Given the description of an element on the screen output the (x, y) to click on. 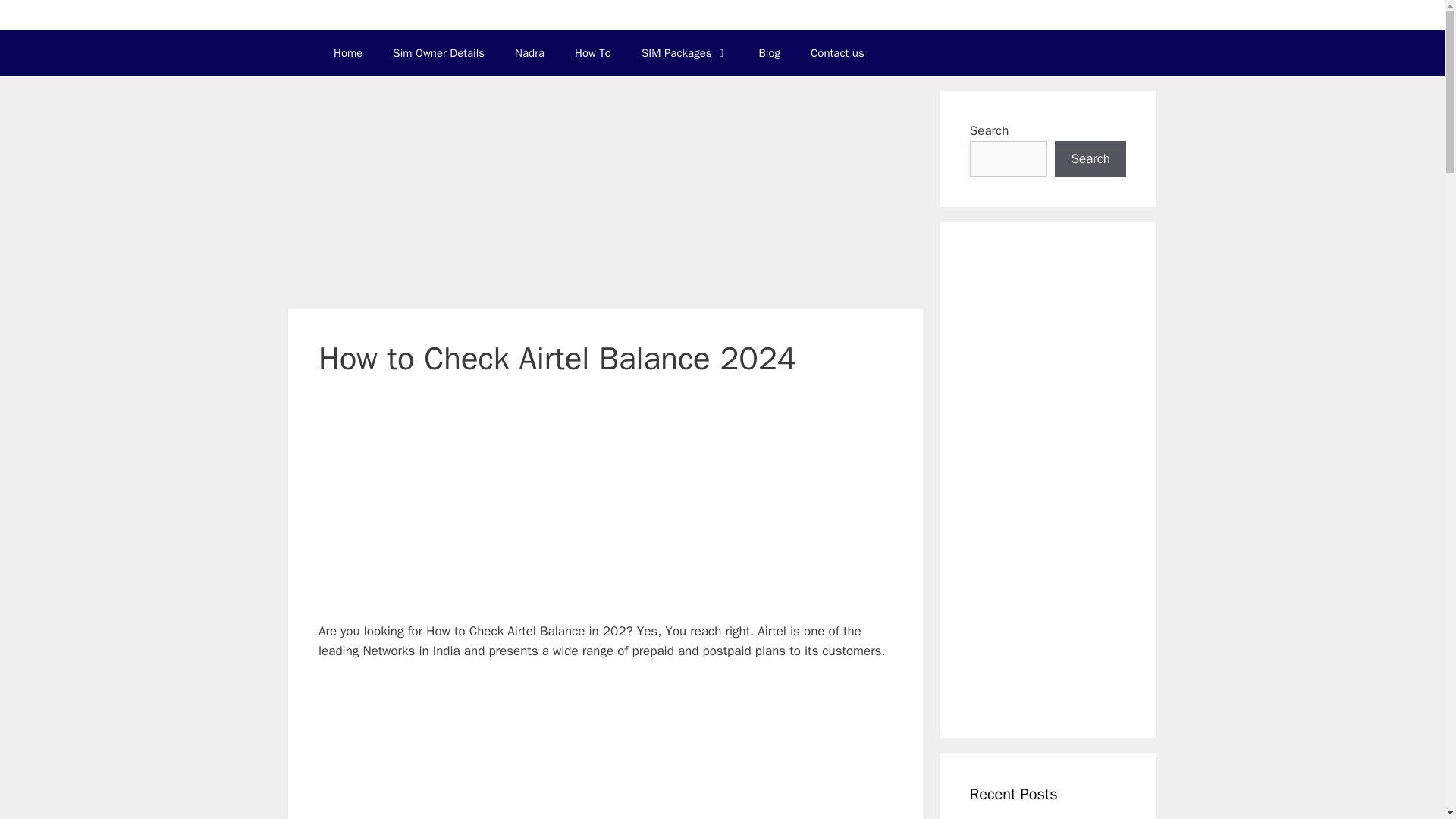
SIM Packages (685, 53)
Advertisement (608, 509)
Sim Owner Details (438, 53)
How To (592, 53)
Home (347, 53)
Nadra (529, 53)
Advertisement (608, 749)
